Given the description of an element on the screen output the (x, y) to click on. 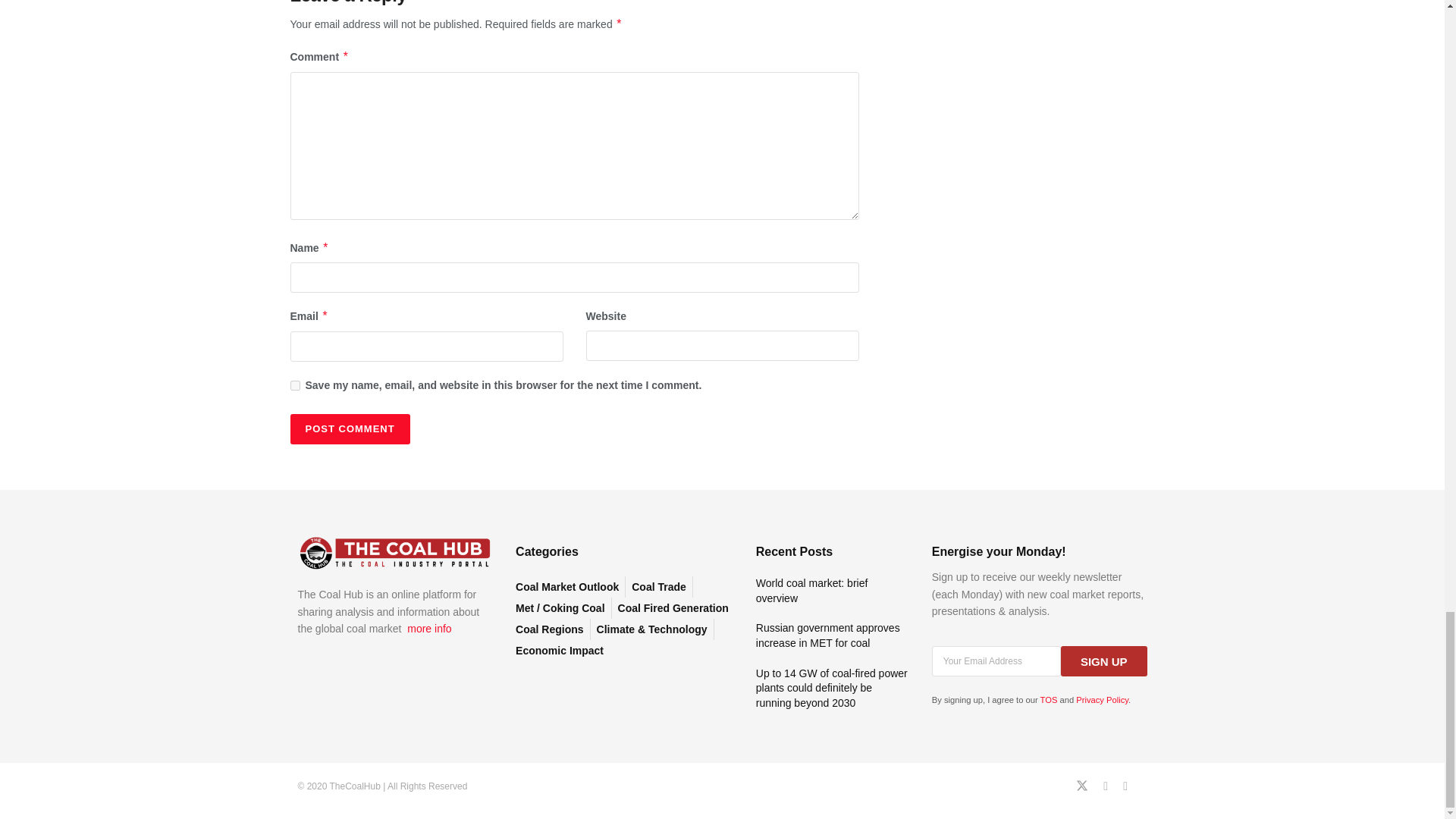
Post Comment (349, 429)
Privacy Policy (1101, 699)
yes (294, 385)
